Given the description of an element on the screen output the (x, y) to click on. 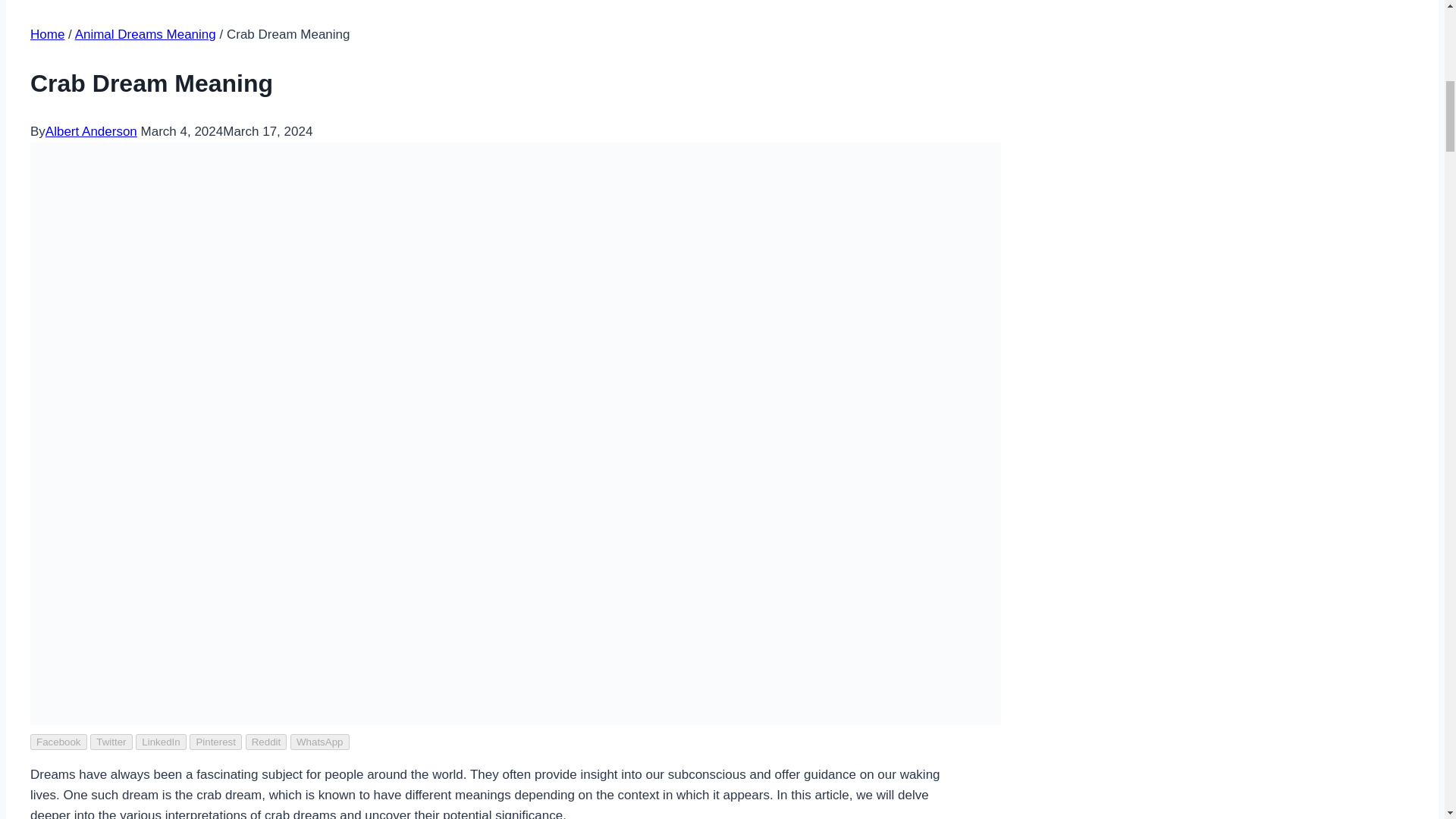
Pinterest (215, 741)
Reddit (266, 741)
WhatsApp (319, 741)
Facebook (58, 741)
Albert Anderson (90, 131)
Animal Dreams Meaning (145, 34)
LinkedIn (160, 741)
Home (47, 34)
Twitter (111, 741)
